Given the description of an element on the screen output the (x, y) to click on. 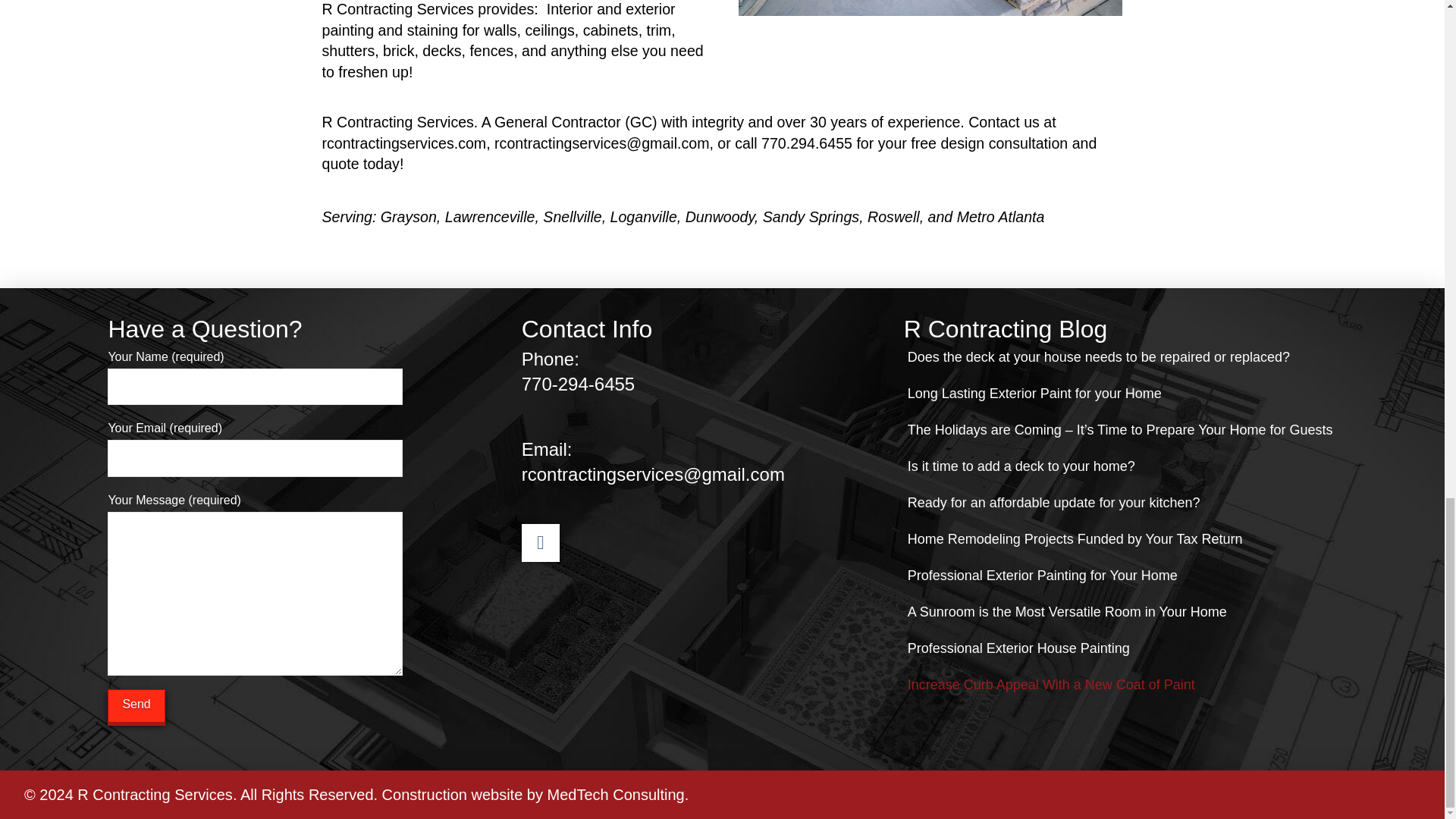
Send (135, 706)
Professional Exterior Painting for Your Home (1042, 583)
Is it time to add a deck to your home? (1021, 473)
R Contracting Services (154, 794)
Long Lasting Exterior Paint for your Home (1035, 401)
MedTech Consulting (615, 794)
Ready for an affordable update for your kitchen? (1054, 510)
Professional Exterior House Painting (1019, 656)
Home Remodeling Projects Funded by Your Tax Return (1075, 546)
A Sunroom is the Most Versatile Room in Your Home (1067, 619)
